Given the description of an element on the screen output the (x, y) to click on. 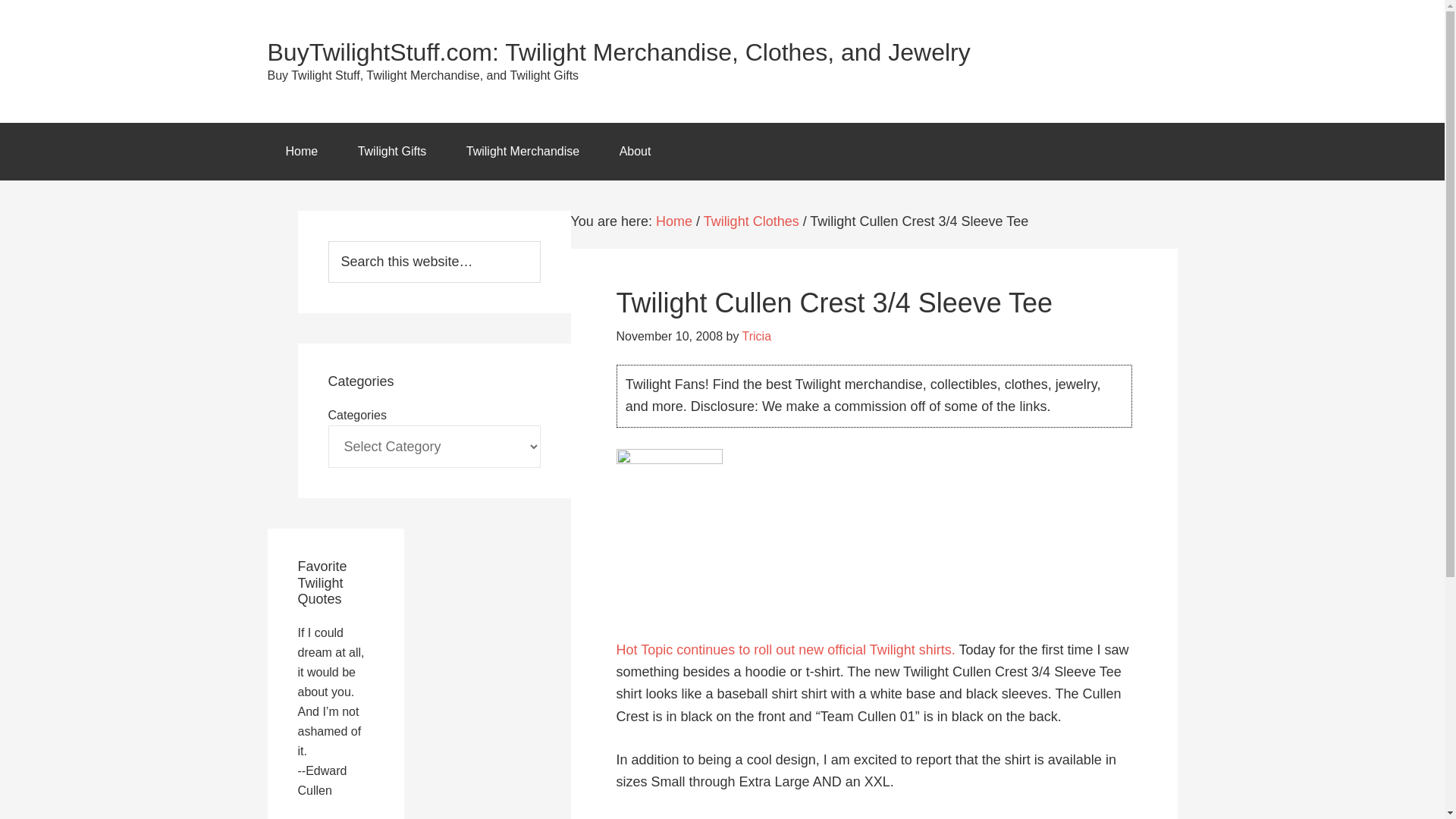
Tricia (756, 336)
Twilight Gifts (392, 151)
Twilight Merchandise (522, 151)
Home (301, 151)
Home (674, 221)
Twilight Clothes (751, 221)
About (635, 151)
